Given the description of an element on the screen output the (x, y) to click on. 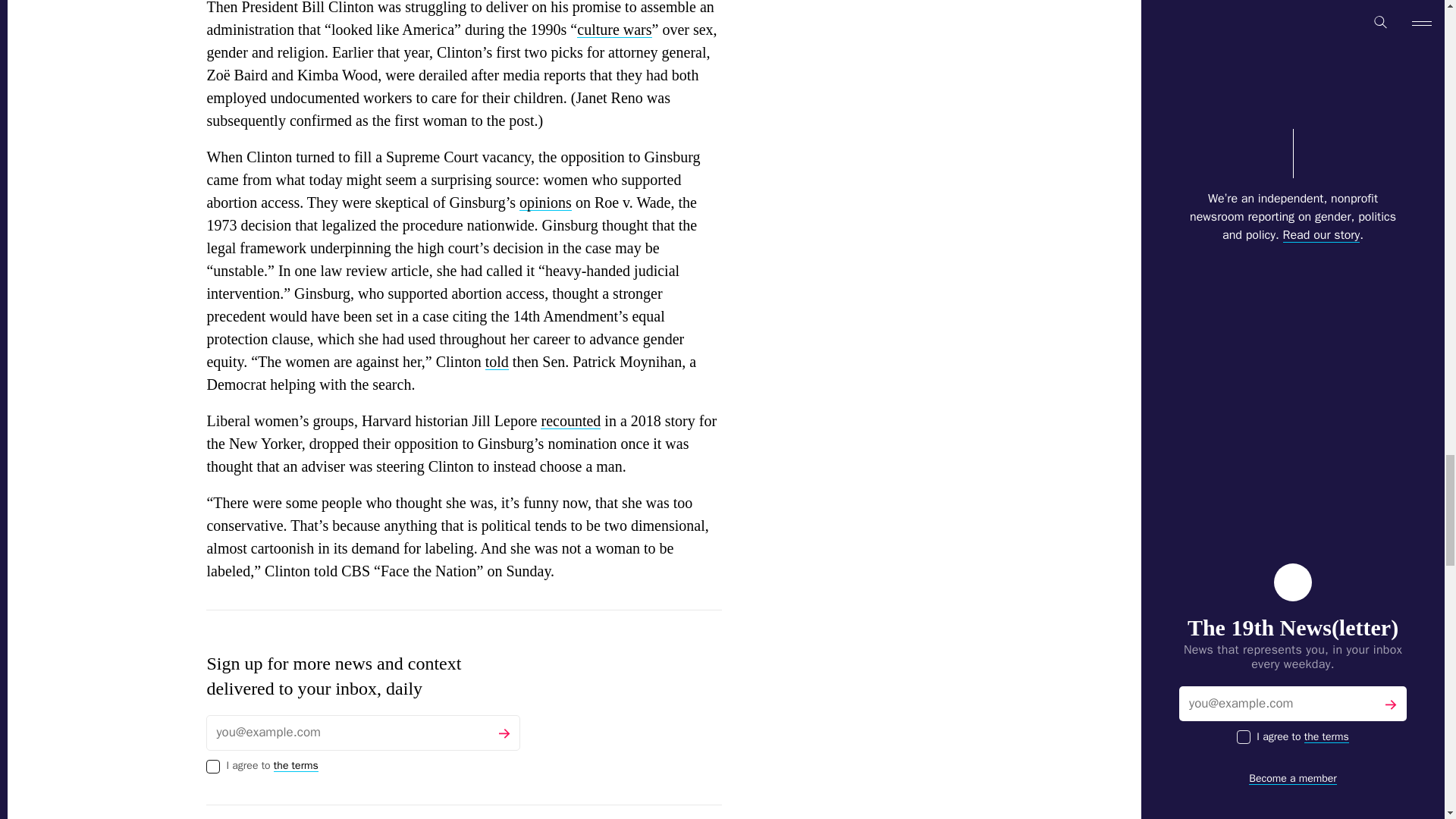
on (212, 766)
